Given the description of an element on the screen output the (x, y) to click on. 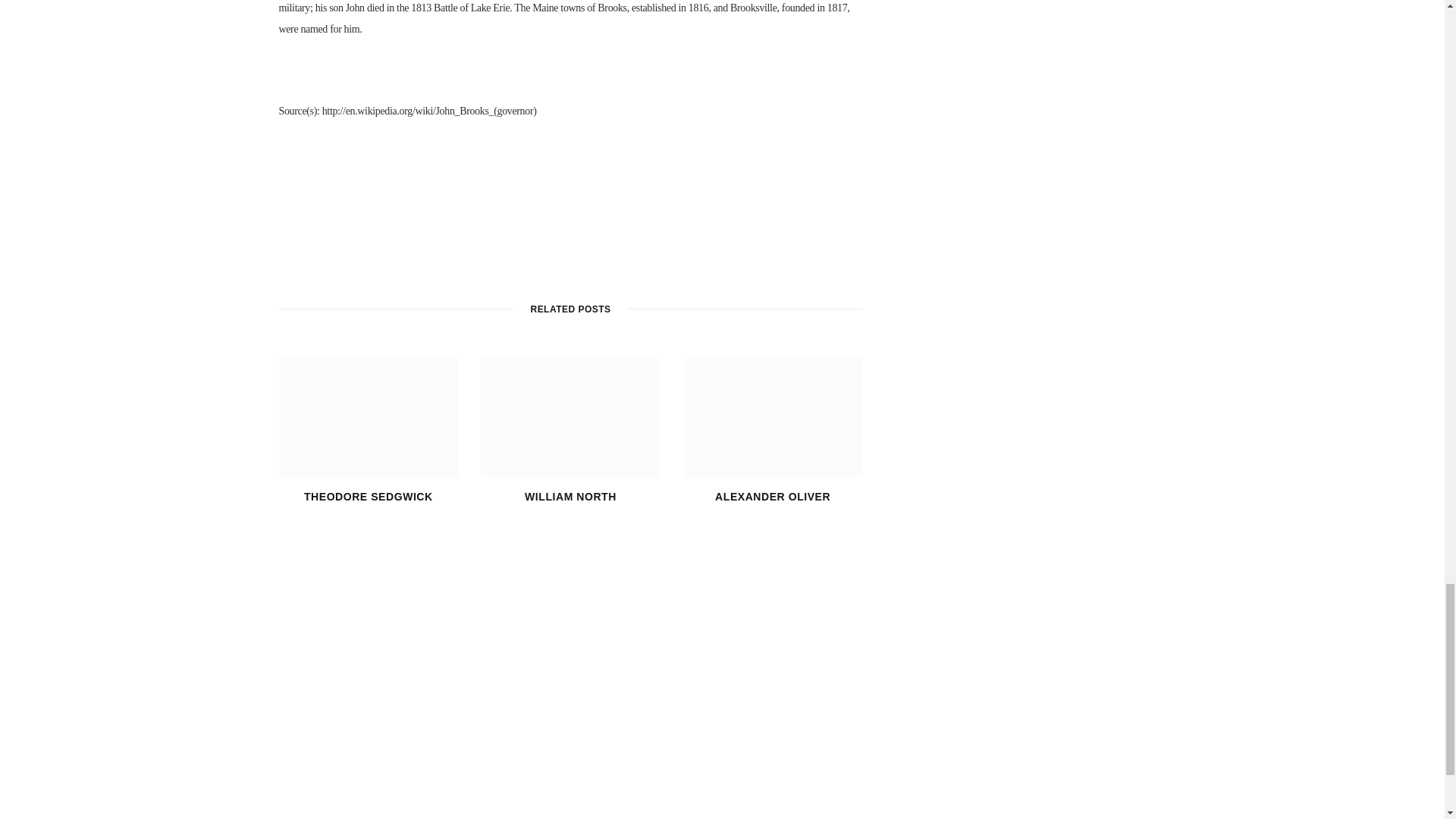
THEODORE SEDGWICK (368, 496)
WILLIAM NORTH (569, 496)
